Given the description of an element on the screen output the (x, y) to click on. 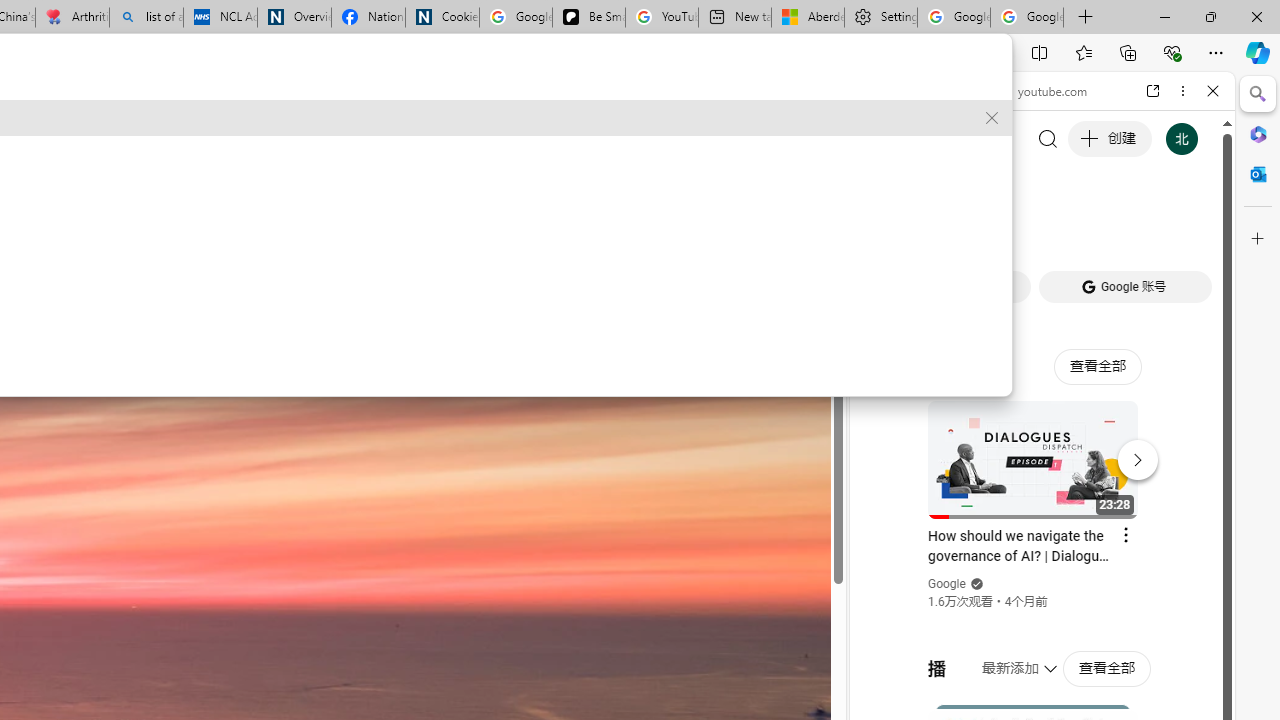
Search Filter, VIDEOS (1006, 228)
Home (938, 91)
Search using an image (129, 362)
Forward (906, 91)
Collections (1128, 52)
Remove suggestion (991, 117)
Learn more (189, 361)
#you (1042, 445)
Search Filter, WEB (882, 228)
WEB   (882, 228)
Search Filter, IMAGES (939, 228)
